Given the description of an element on the screen output the (x, y) to click on. 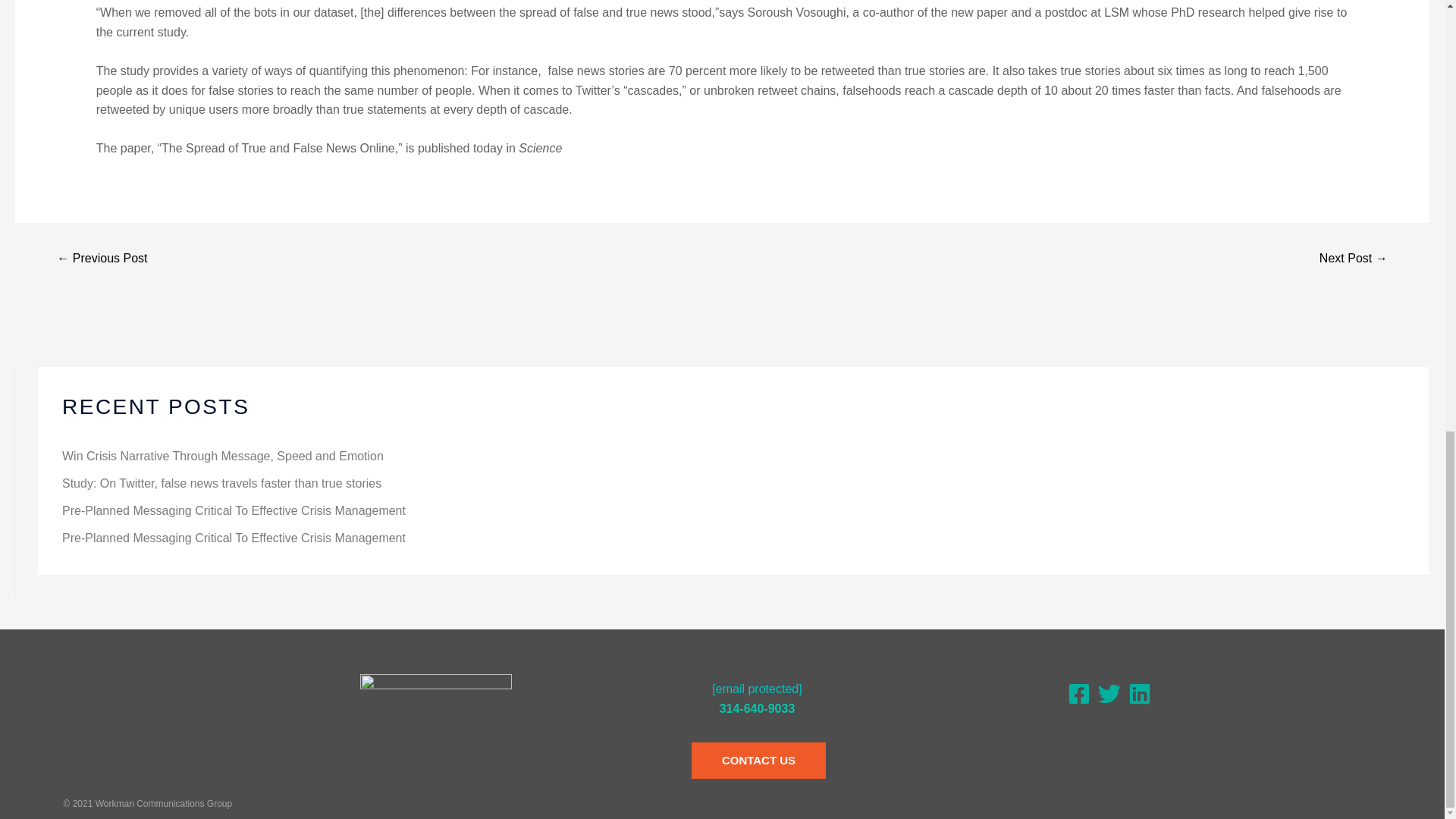
CONTACT US (721, 760)
Win Crisis Narrative Through Message, Speed and Emotion (223, 455)
